Given the description of an element on the screen output the (x, y) to click on. 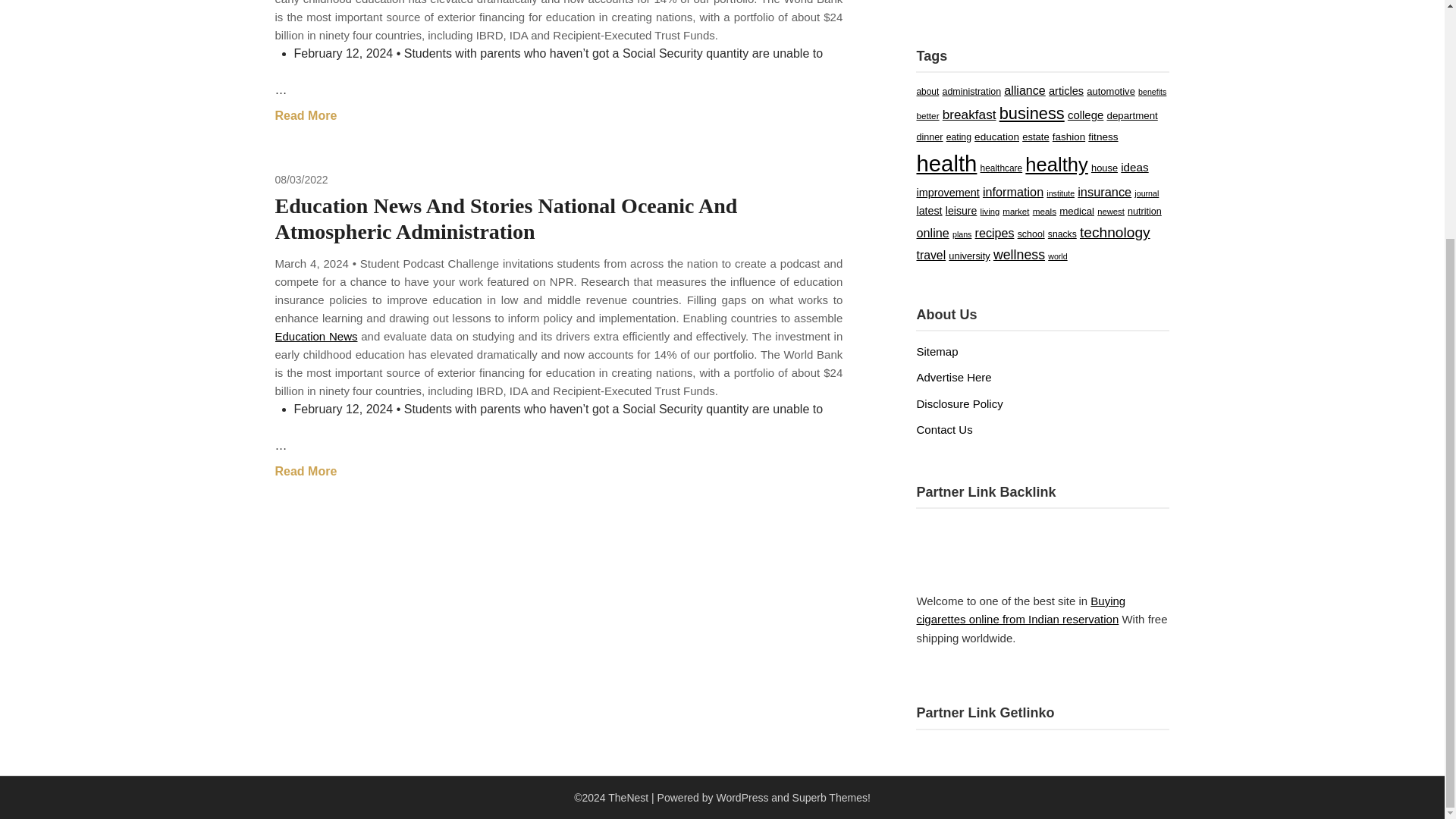
college (1085, 114)
Education News (315, 336)
Read More (305, 471)
department (1131, 115)
business (1031, 113)
automotive (1110, 91)
eating (958, 136)
fashion (1068, 136)
education (996, 136)
better (927, 115)
